Given the description of an element on the screen output the (x, y) to click on. 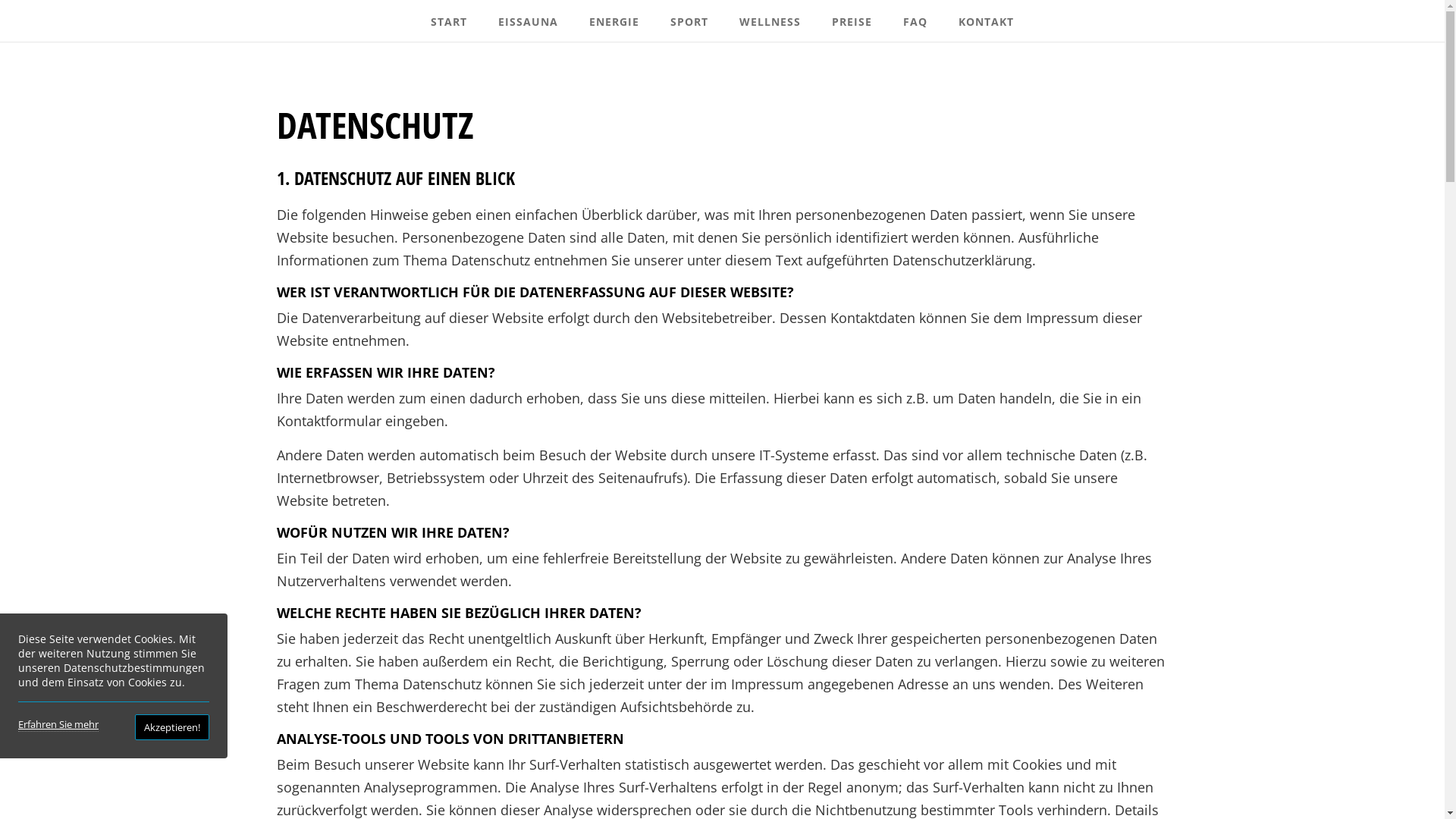
FAQ Element type: text (915, 18)
PREISE Element type: text (851, 18)
ENERGIE Element type: text (613, 18)
KONTAKT Element type: text (985, 18)
EISSAUNA Element type: text (527, 18)
SPORT Element type: text (688, 18)
WELLNESS Element type: text (769, 18)
START Element type: text (448, 18)
Erfahren Sie mehr Element type: text (58, 724)
